Given the description of an element on the screen output the (x, y) to click on. 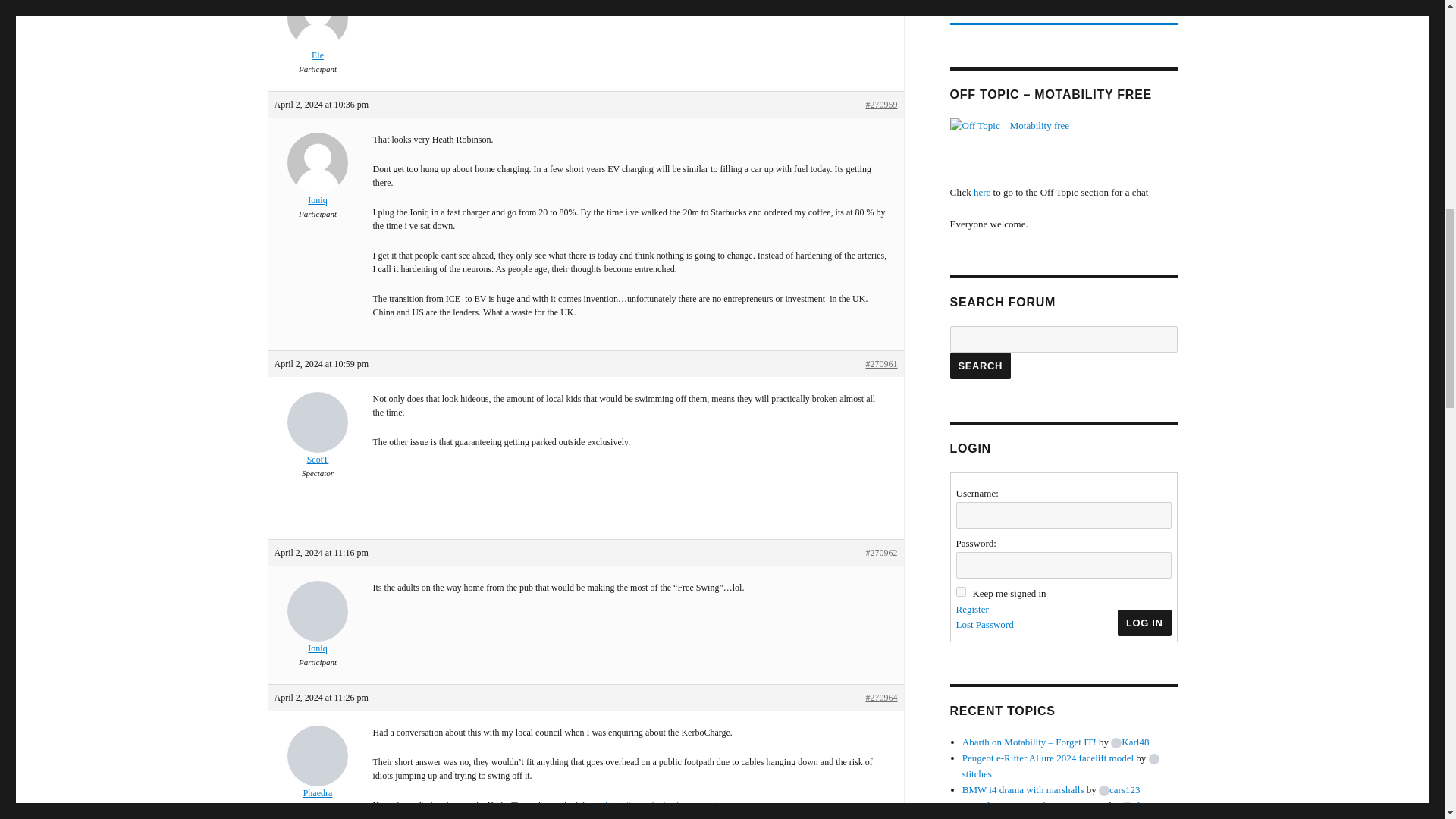
View ScotT's profile (318, 429)
View Phaedra's profile (318, 762)
View Ioniq's profile (318, 169)
Ioniq (318, 169)
Ioniq (318, 617)
Ele (318, 31)
View Ele's profile (318, 31)
Search (979, 365)
ScotT (318, 429)
View Ioniq's profile (318, 617)
forever (960, 592)
Phaedra (318, 762)
